Given the description of an element on the screen output the (x, y) to click on. 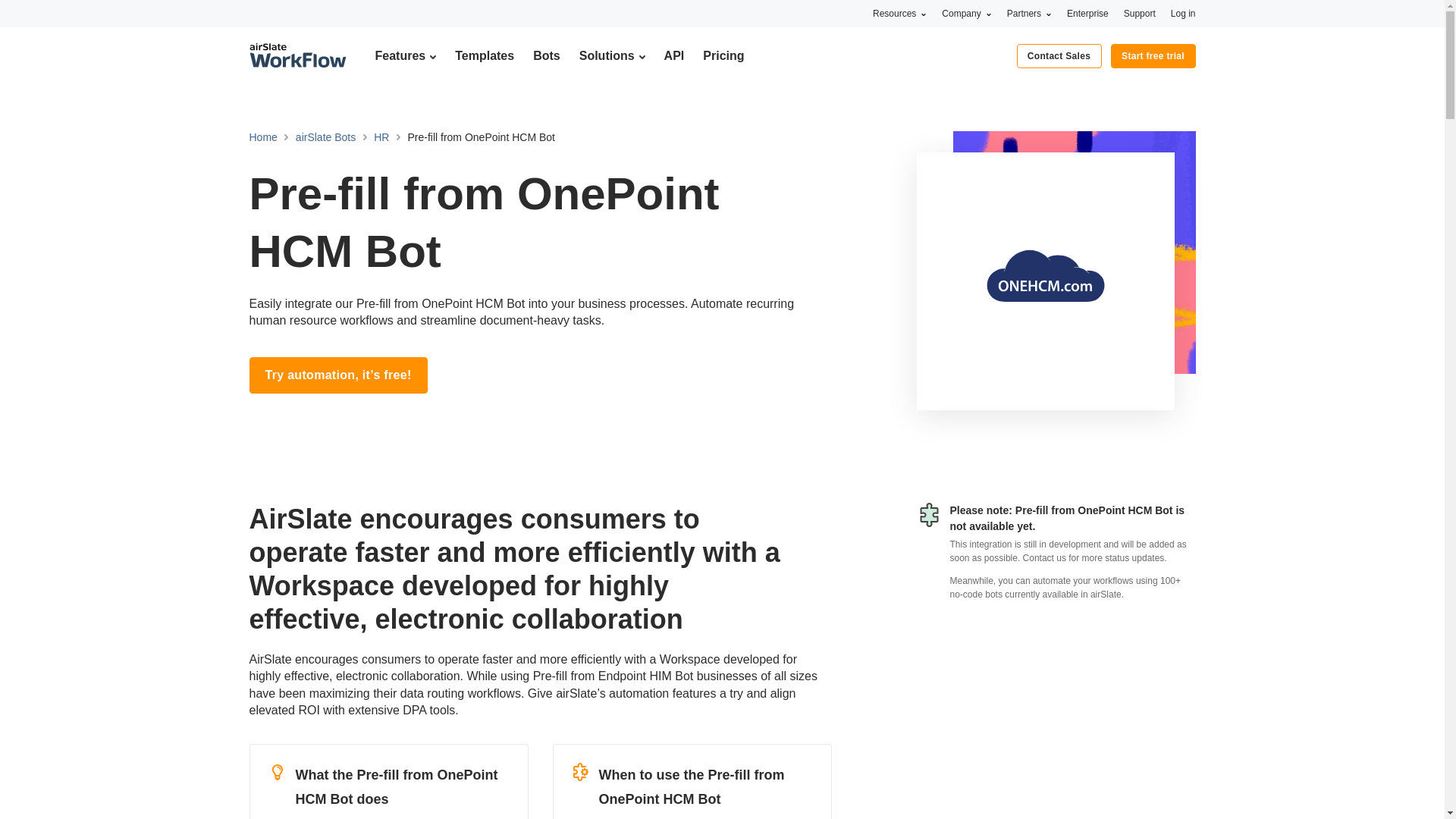
Resources (899, 13)
Templates (483, 55)
Support (1140, 13)
Company (966, 13)
Enterprise (1087, 13)
Log in (1182, 13)
Partners (1029, 13)
Bots (546, 55)
